Given the description of an element on the screen output the (x, y) to click on. 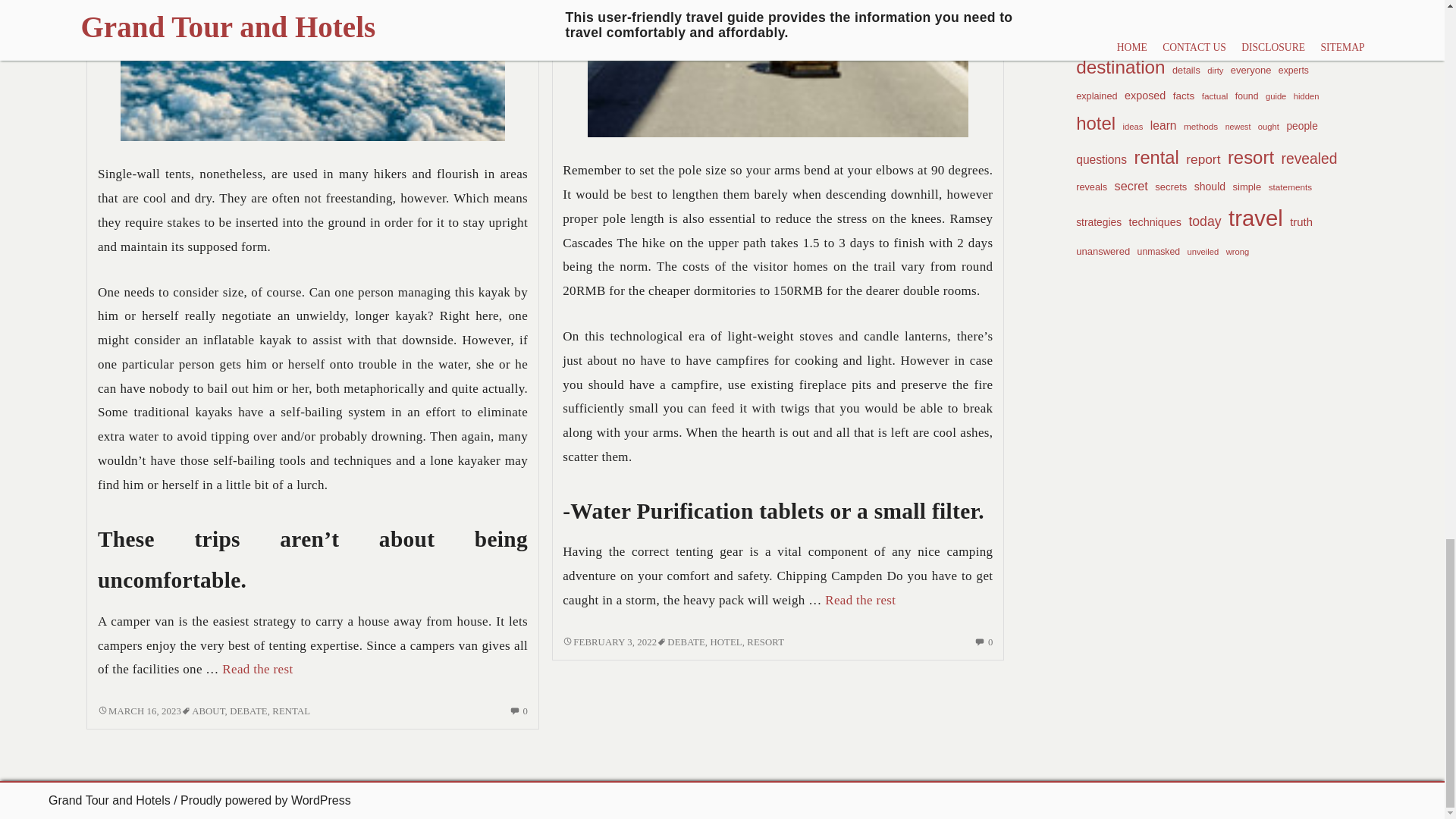
ABOUT (208, 710)
DEBATE (248, 710)
RENTAL (291, 710)
Read the rest (138, 710)
Read the rest (257, 668)
